Given the description of an element on the screen output the (x, y) to click on. 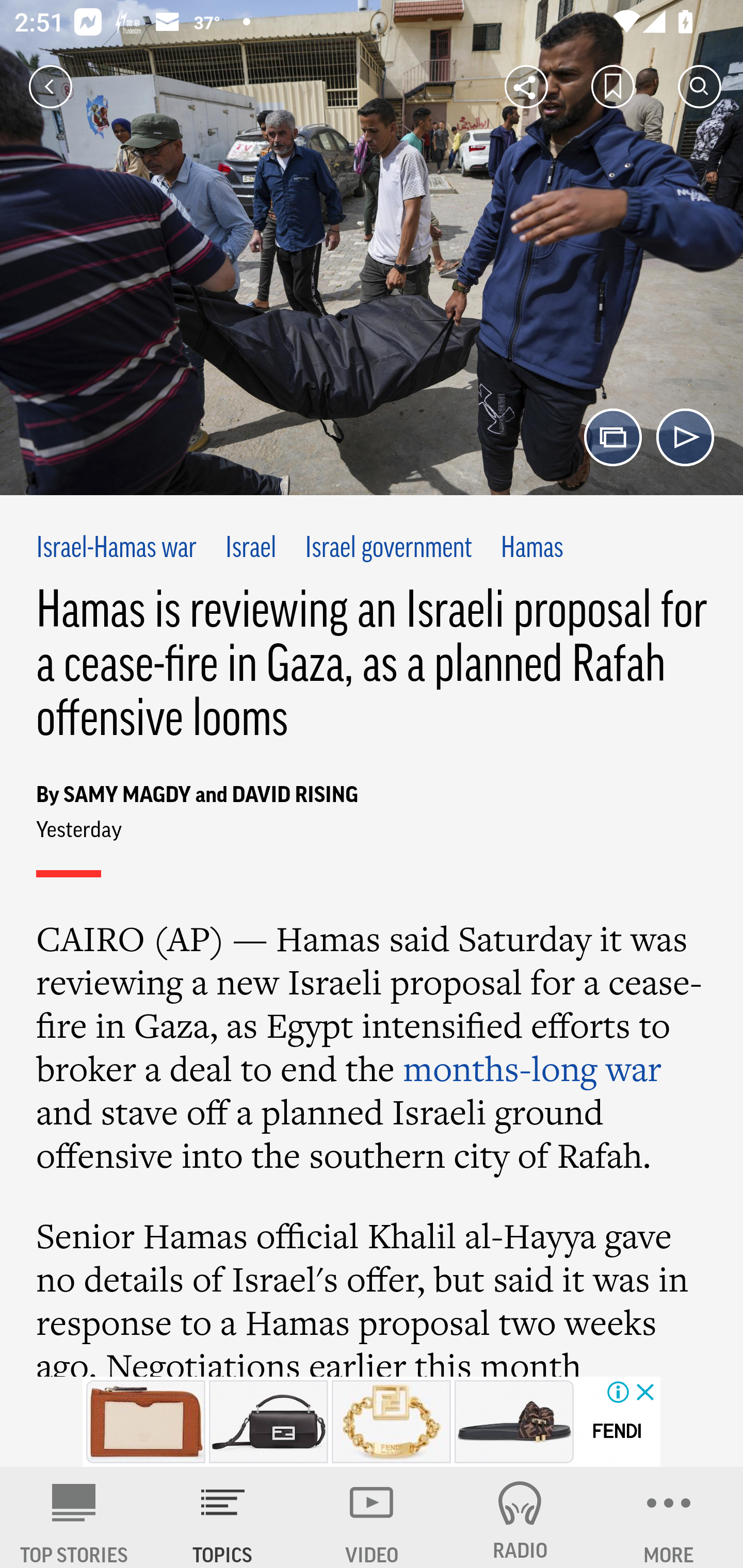
Israel-Hamas war (117, 549)
Israel (250, 549)
Israel government (388, 549)
Hamas (531, 549)
months-long war (532, 1068)
fendi-feel-brown-satin-slides-8x8142ae7sf0r7v (513, 1420)
AP News TOP STORIES (74, 1517)
TOPICS (222, 1517)
VIDEO (371, 1517)
RADIO (519, 1517)
MORE (668, 1517)
